Given the description of an element on the screen output the (x, y) to click on. 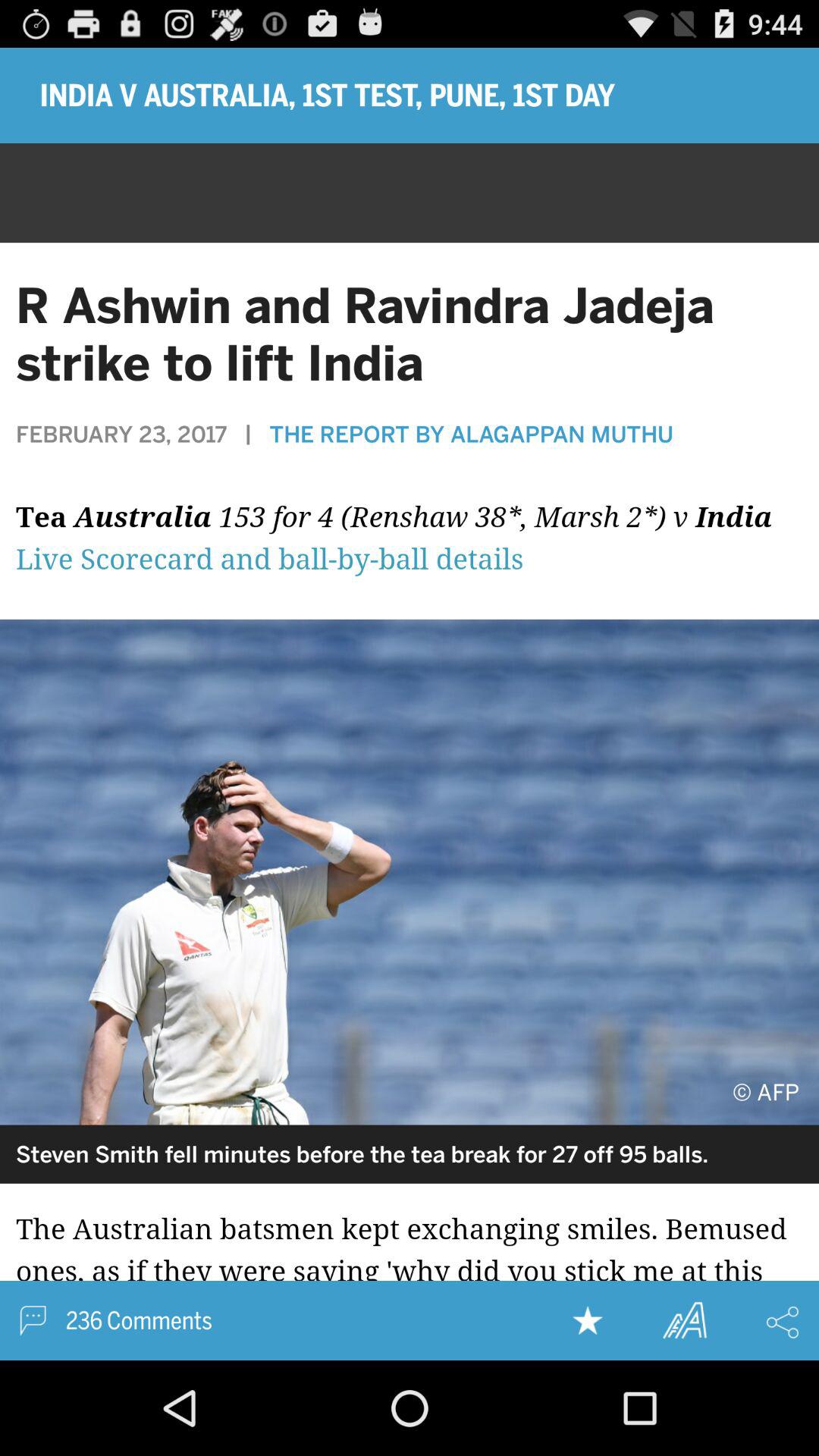
share article (782, 1321)
